Given the description of an element on the screen output the (x, y) to click on. 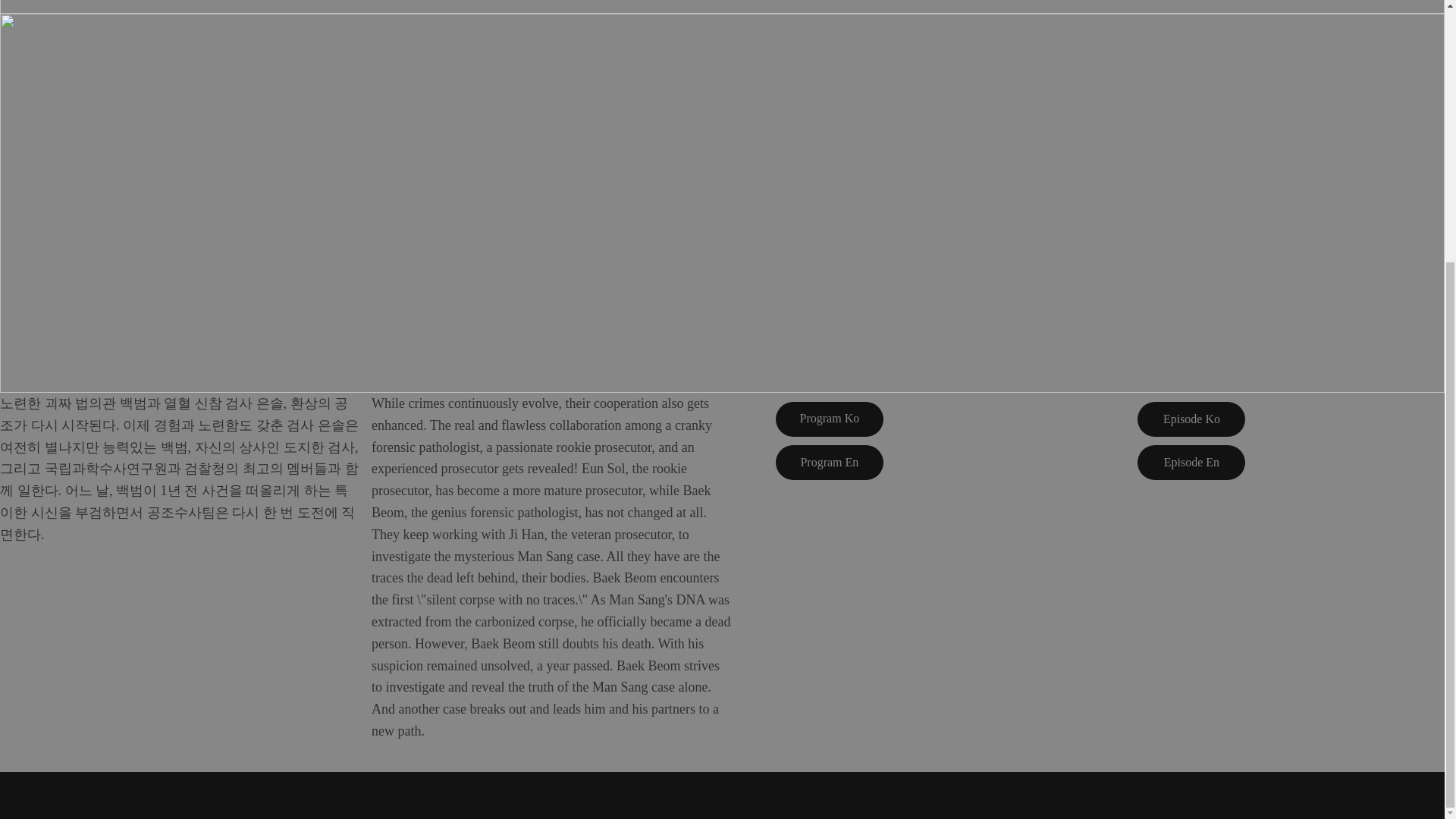
Episode Ko (1190, 419)
Program En (829, 462)
Program Ko (829, 419)
Episode En (1190, 462)
